Given the description of an element on the screen output the (x, y) to click on. 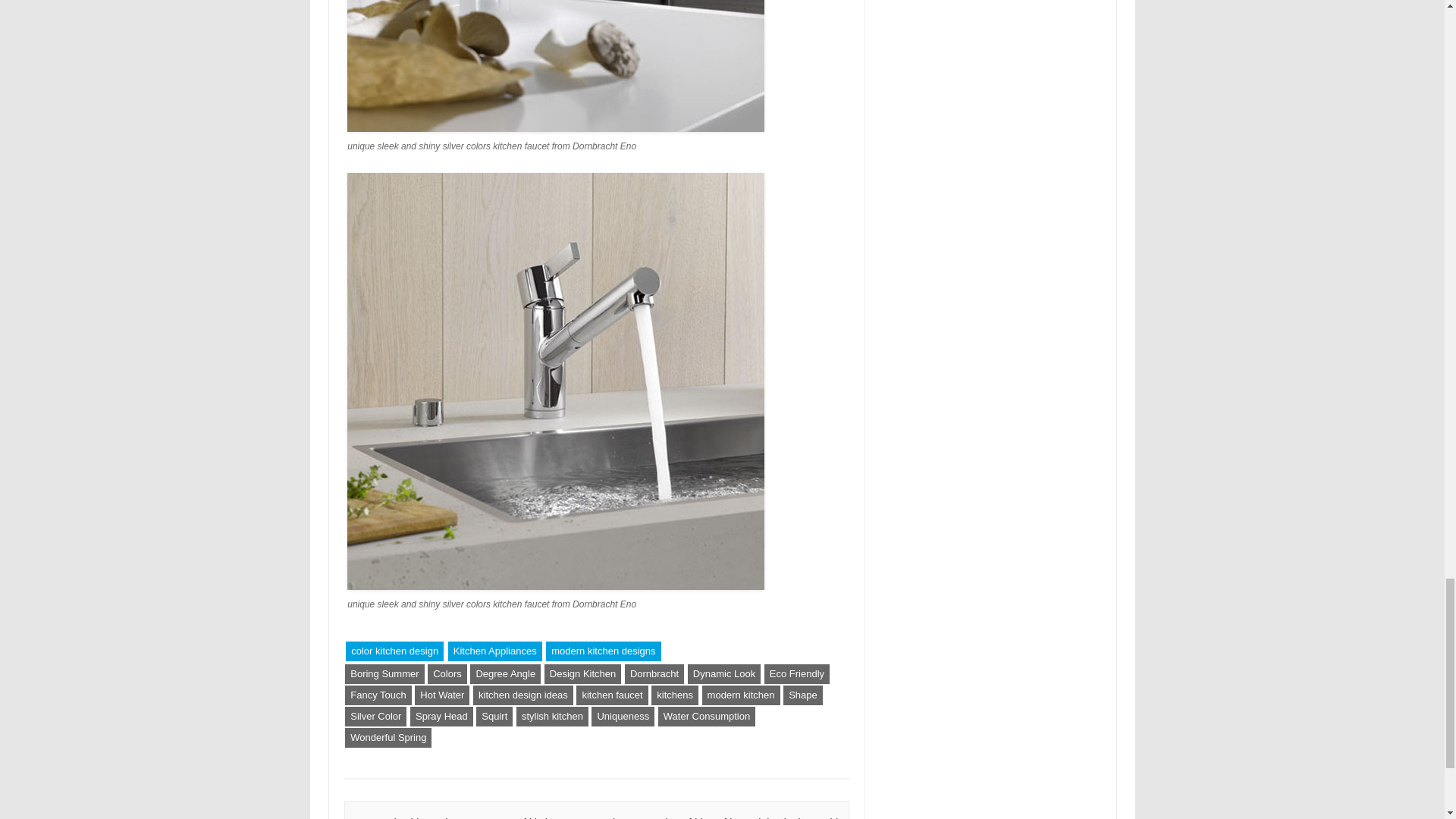
Dornbracht (654, 673)
modern kitchen designs (603, 650)
color kitchen design (395, 650)
Fancy Touch (377, 695)
Colors (447, 673)
kitchens (674, 695)
Dynamic Look (723, 673)
kitchen design ideas (523, 695)
Spray Head (441, 716)
Eco Friendly (796, 673)
Degree Angle (505, 673)
modern kitchen (740, 695)
Boring Summer (384, 673)
kitchen faucet (611, 695)
